Given the description of an element on the screen output the (x, y) to click on. 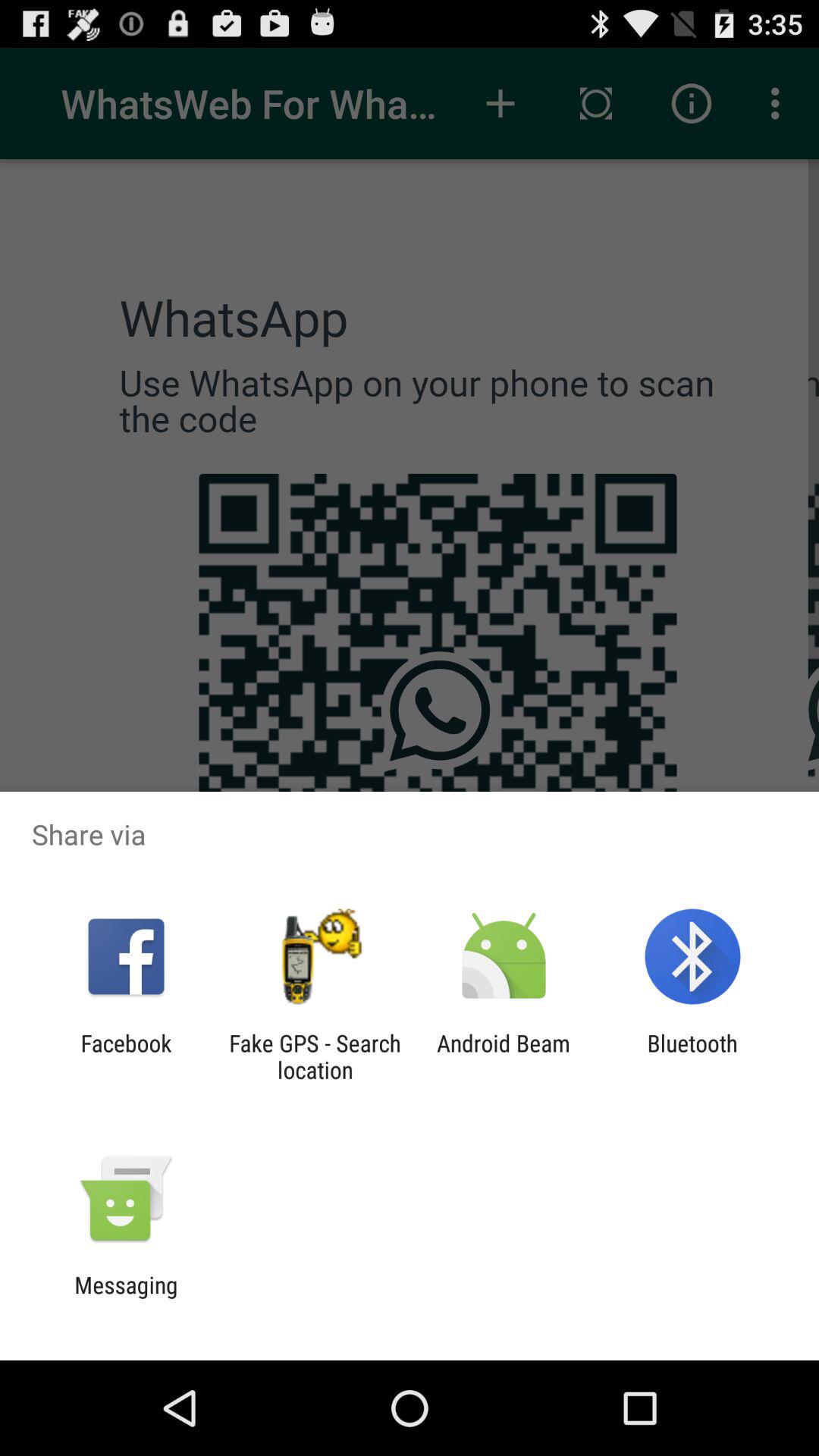
choose the item to the right of android beam app (692, 1056)
